Given the description of an element on the screen output the (x, y) to click on. 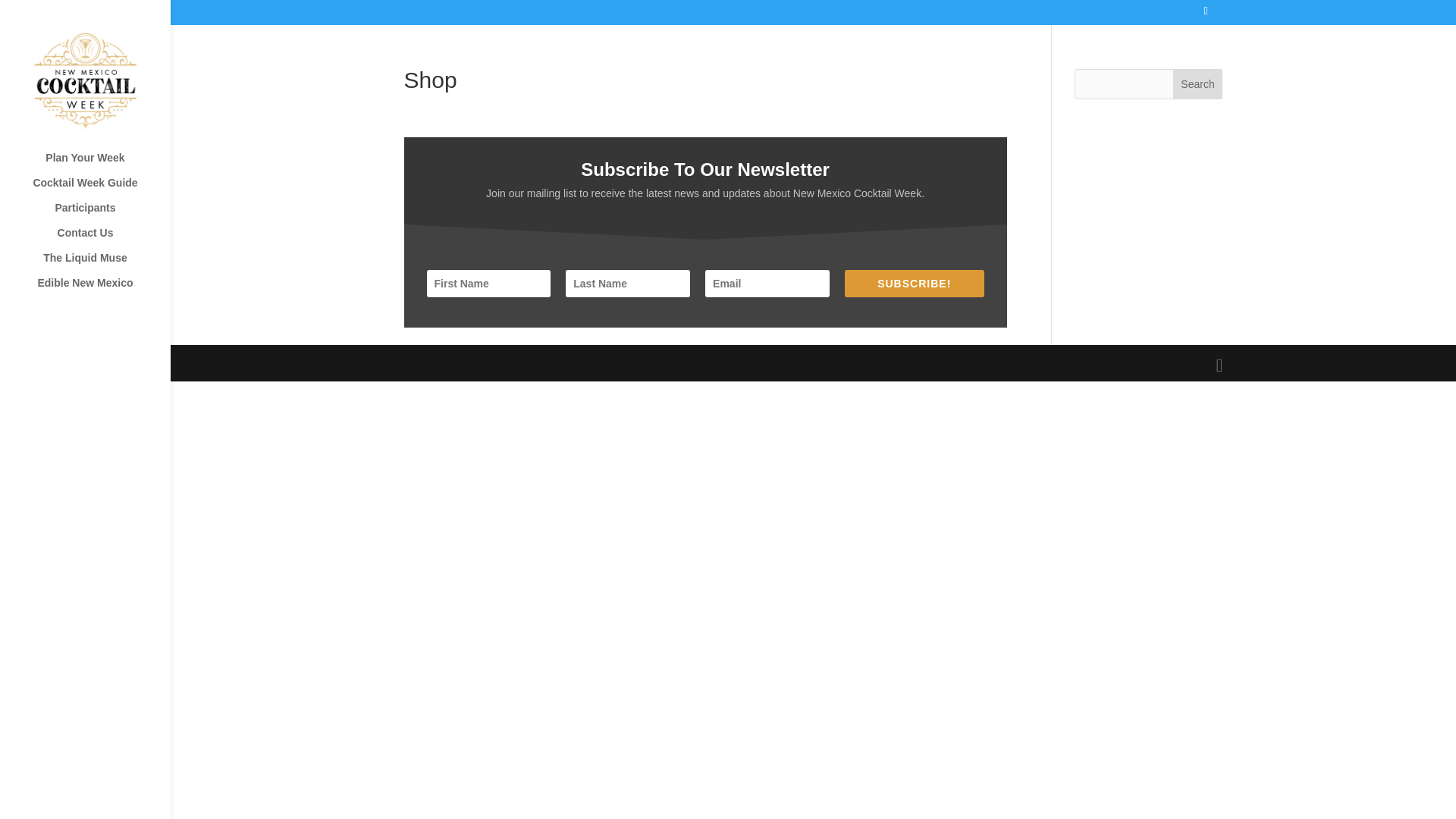
The Liquid Muse (100, 264)
Participants (100, 214)
Edible New Mexico (100, 289)
SUBSCRIBE! (914, 283)
Search (1198, 82)
Plan Your Week (100, 164)
Contact Us (100, 239)
Cocktail Week Guide (100, 189)
